Given the description of an element on the screen output the (x, y) to click on. 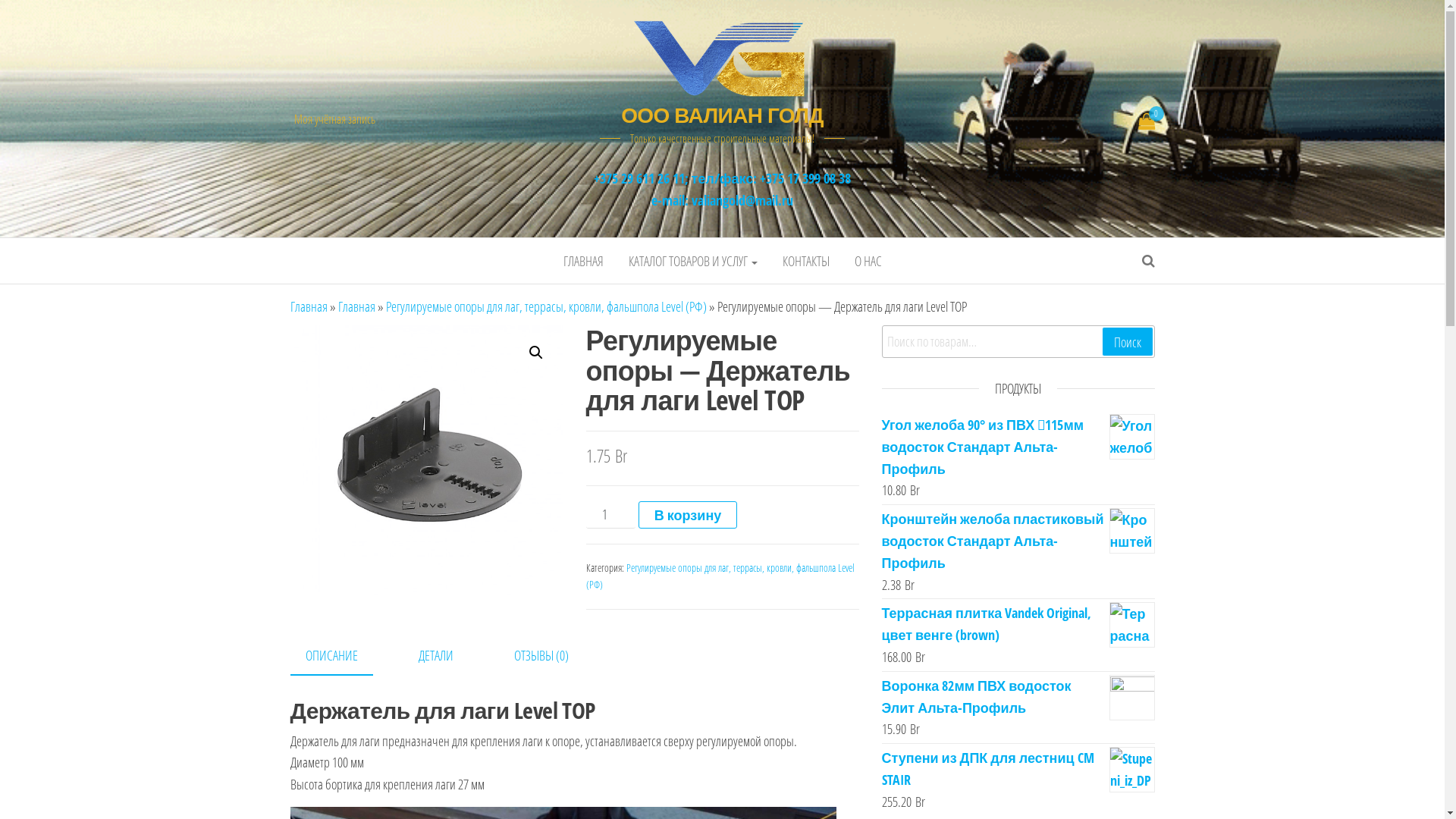
0 Element type: text (1146, 121)
